Given the description of an element on the screen output the (x, y) to click on. 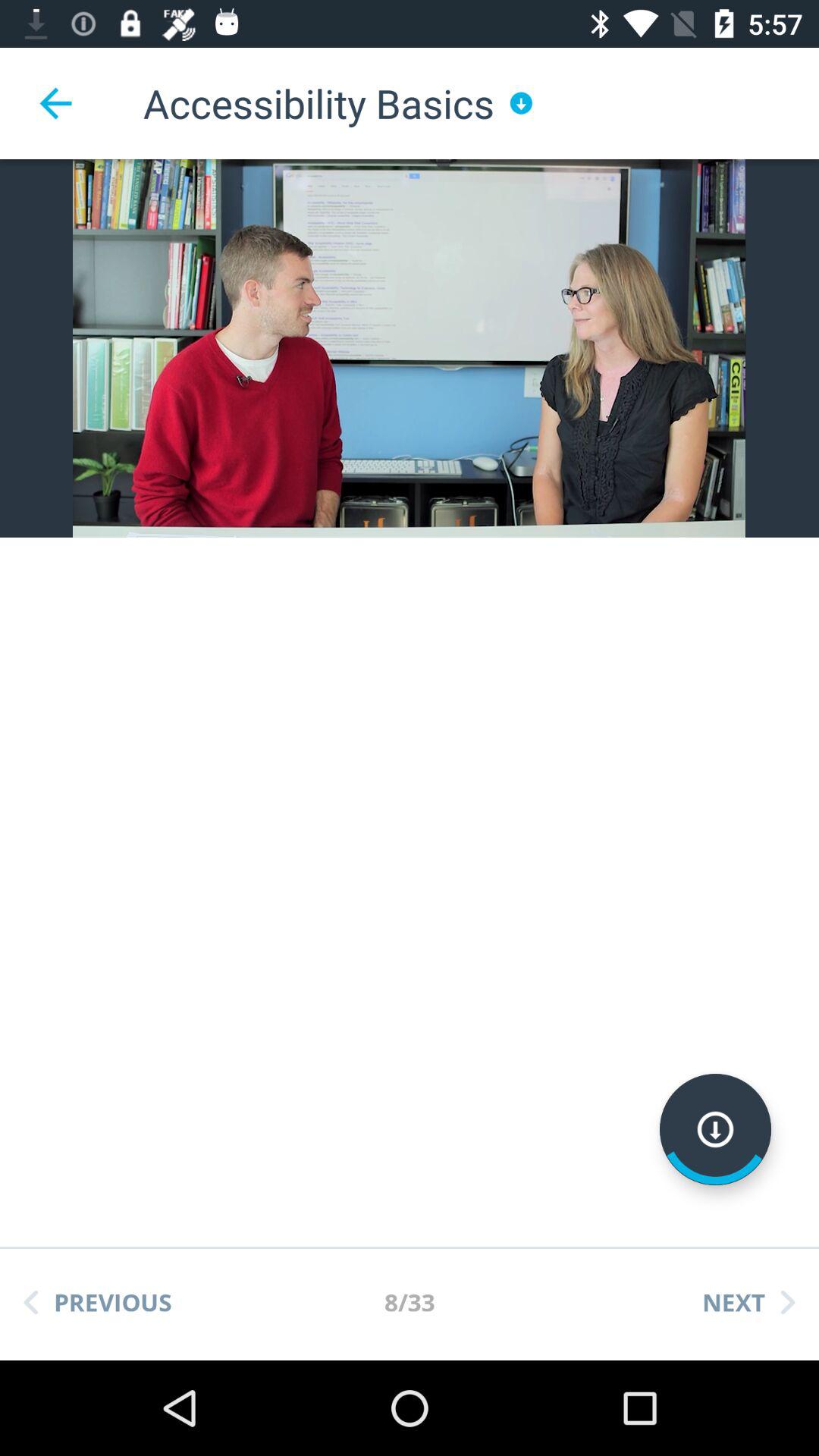
switch autoplay option (715, 1129)
